Given the description of an element on the screen output the (x, y) to click on. 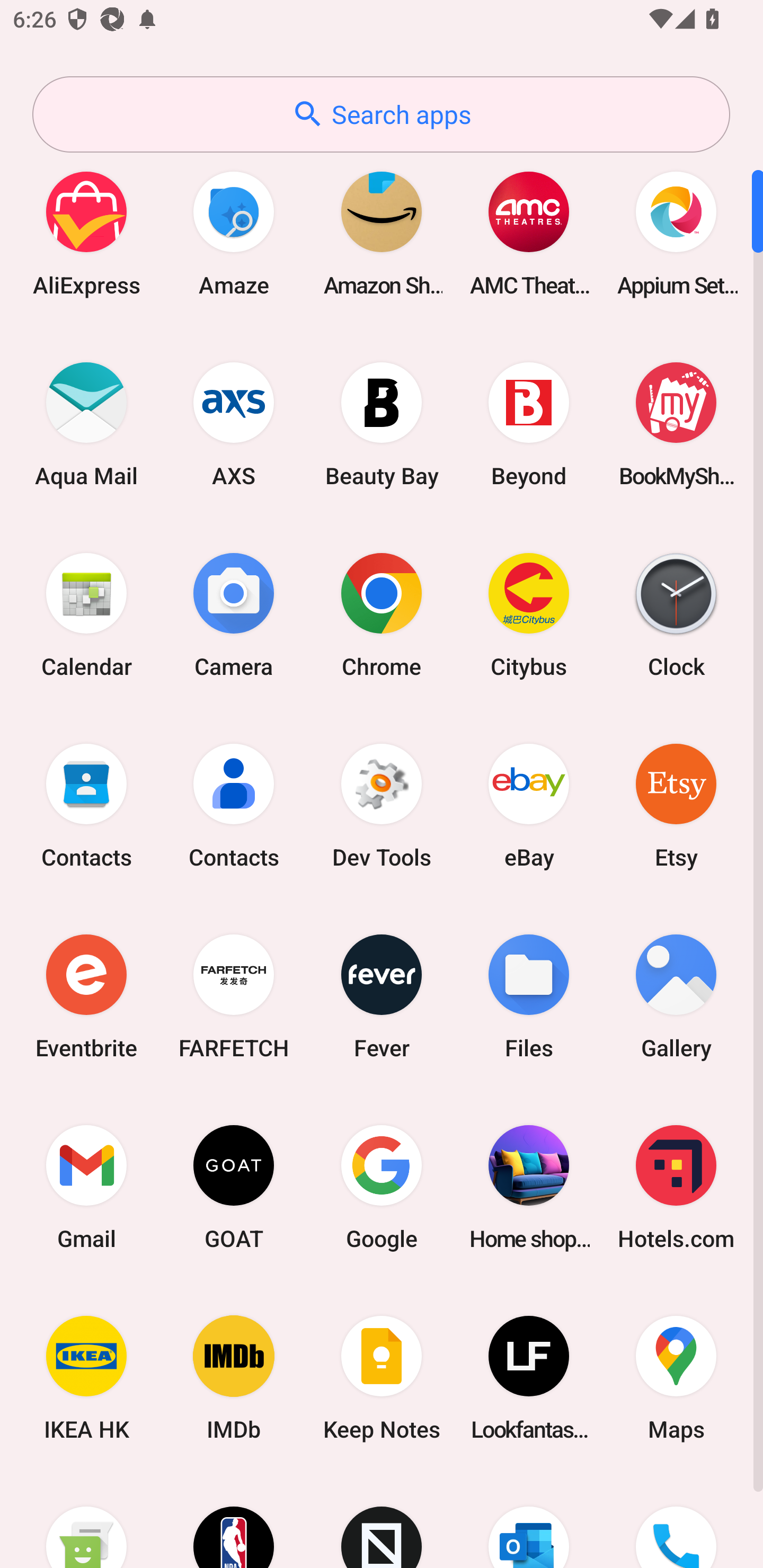
  Search apps (381, 114)
AliExpress (86, 233)
Amaze (233, 233)
Amazon Shopping (381, 233)
AMC Theatres (528, 233)
Appium Settings (676, 233)
Aqua Mail (86, 424)
AXS (233, 424)
Beauty Bay (381, 424)
Beyond (528, 424)
BookMyShow (676, 424)
Calendar (86, 614)
Camera (233, 614)
Chrome (381, 614)
Citybus (528, 614)
Clock (676, 614)
Contacts (86, 805)
Contacts (233, 805)
Dev Tools (381, 805)
eBay (528, 805)
Etsy (676, 805)
Eventbrite (86, 996)
FARFETCH (233, 996)
Fever (381, 996)
Files (528, 996)
Gallery (676, 996)
Gmail (86, 1186)
GOAT (233, 1186)
Google (381, 1186)
Home shopping (528, 1186)
Hotels.com (676, 1186)
IKEA HK (86, 1377)
IMDb (233, 1377)
Keep Notes (381, 1377)
Lookfantastic (528, 1377)
Maps (676, 1377)
